Given the description of an element on the screen output the (x, y) to click on. 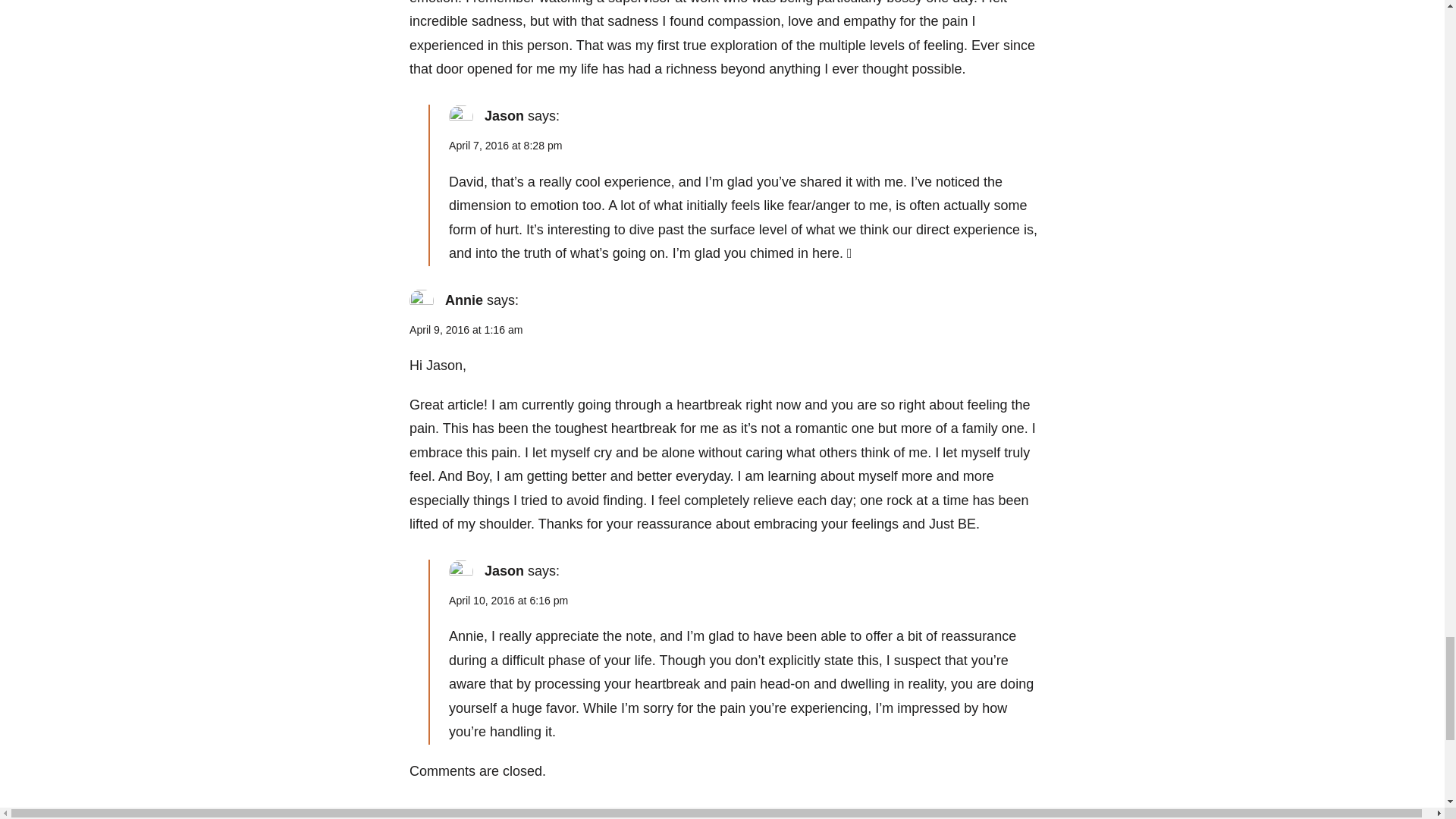
April 7, 2016 at 8:28 pm (505, 145)
April 10, 2016 at 6:16 pm (507, 600)
April 9, 2016 at 1:16 am (465, 329)
